Given the description of an element on the screen output the (x, y) to click on. 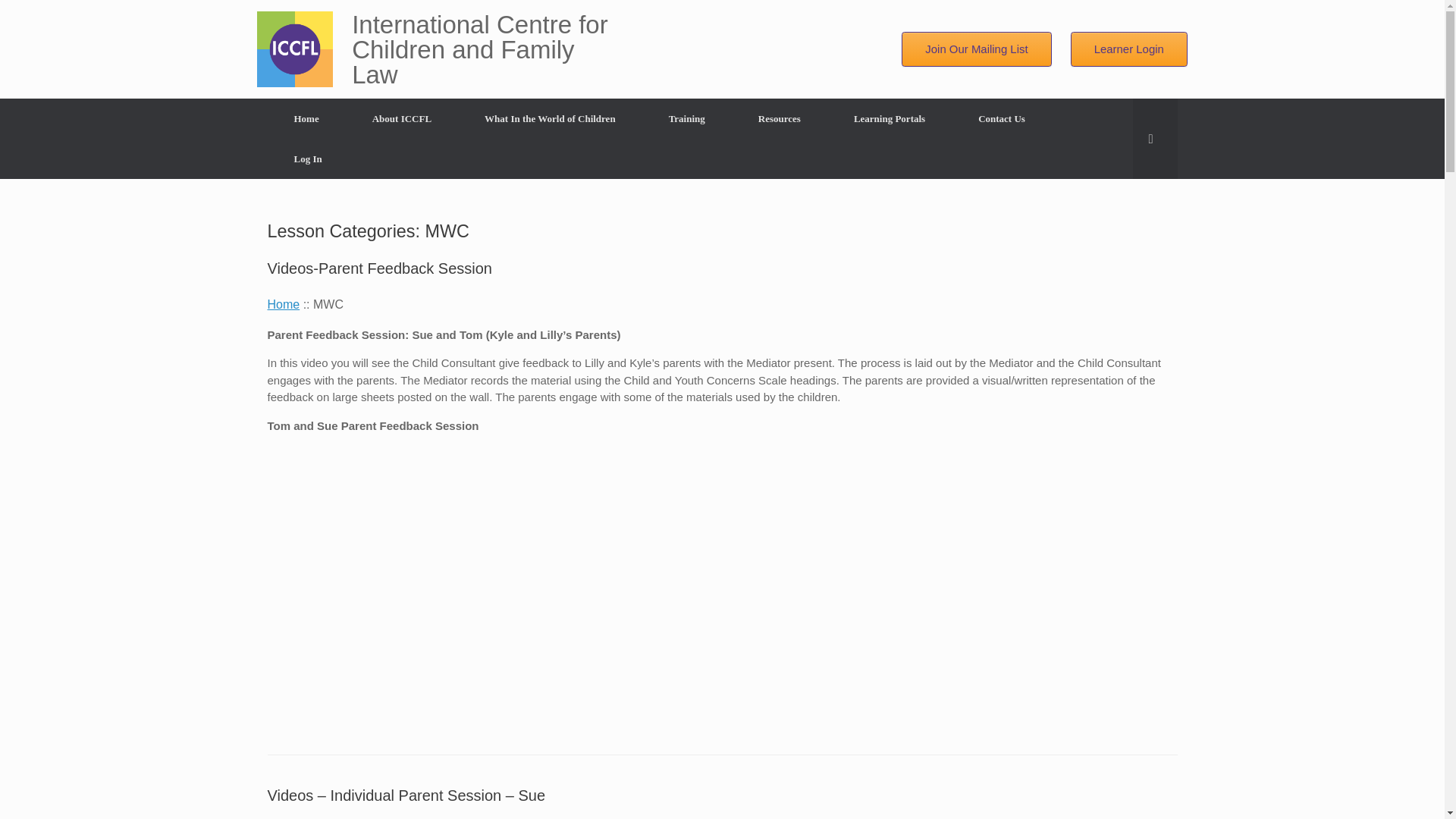
Training (687, 118)
Home (282, 303)
Home (305, 118)
ICCFL (295, 48)
Videos-Parent Feedback Session (379, 267)
Permalink to Videos-Parent Feedback Session (379, 267)
Join Our Mailing List (976, 49)
Learning Portals (889, 118)
Learner Login (1129, 49)
Resources (779, 118)
